Given the description of an element on the screen output the (x, y) to click on. 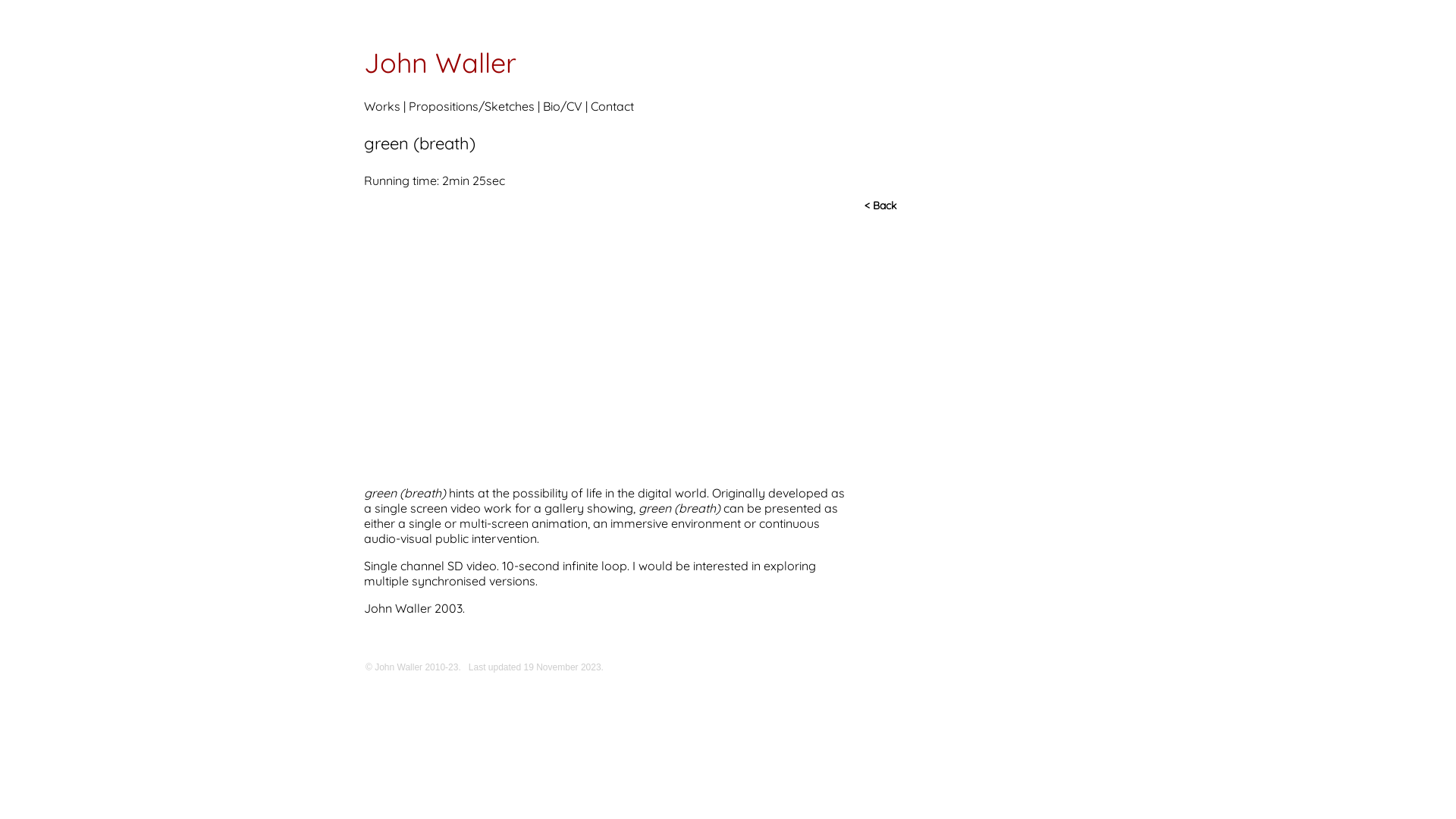
Works Element type: text (382, 105)
Contact Element type: text (611, 105)
< Back Element type: text (880, 205)
Propositions/Sketches Element type: text (471, 105)
Bio/CV Element type: text (562, 105)
